Given the description of an element on the screen output the (x, y) to click on. 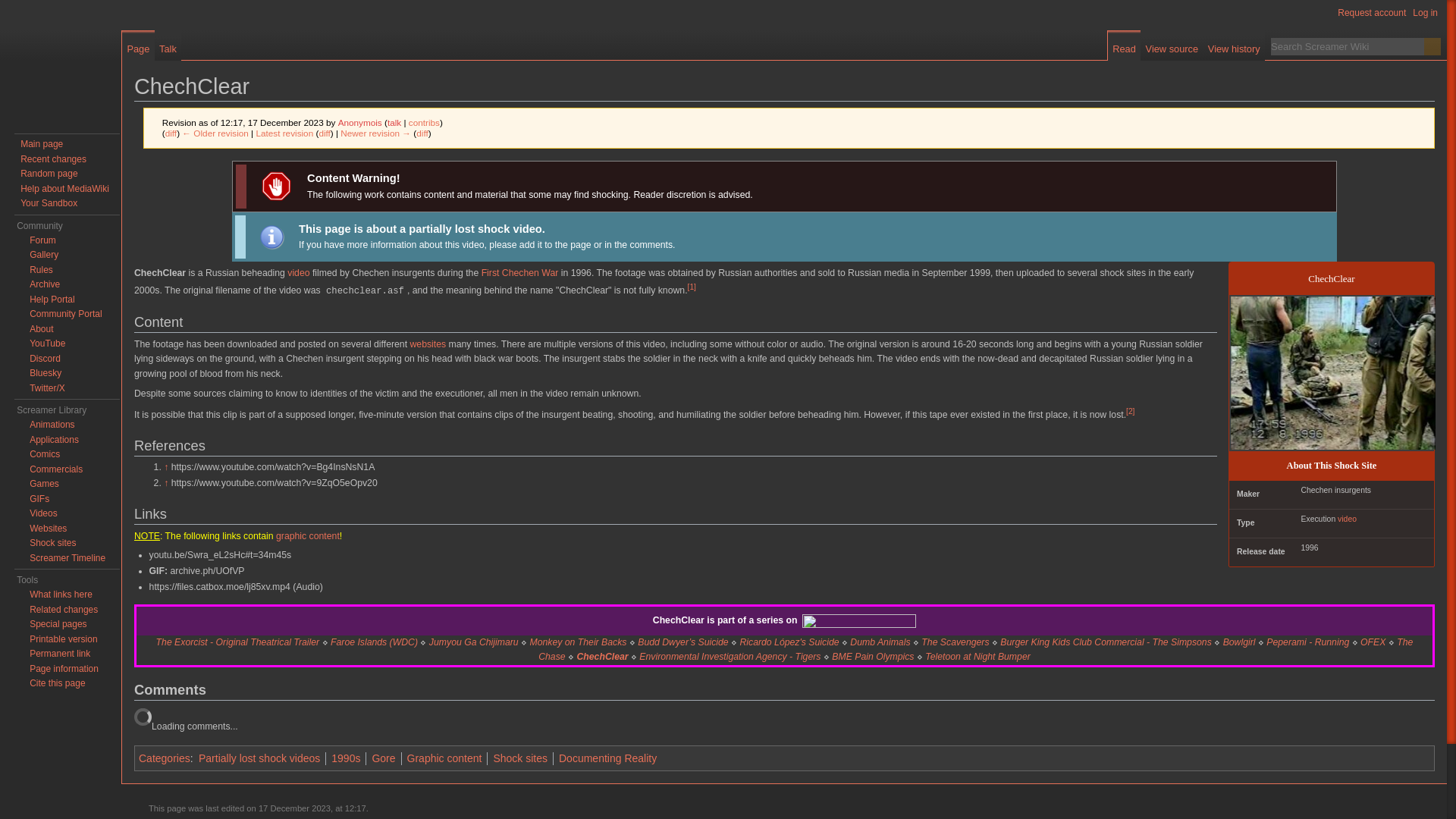
Monkey on Their Backs (577, 642)
ChechClear (170, 132)
ChechClear (324, 132)
OFEX (1372, 642)
The Exorcist - Original Theatrical Trailer (237, 642)
The Exorcist - Original Theatrical Trailer (237, 642)
ChechClear (375, 132)
Category:Stubs (272, 235)
Anonymois (359, 122)
Dumb Animals (880, 642)
